Given the description of an element on the screen output the (x, y) to click on. 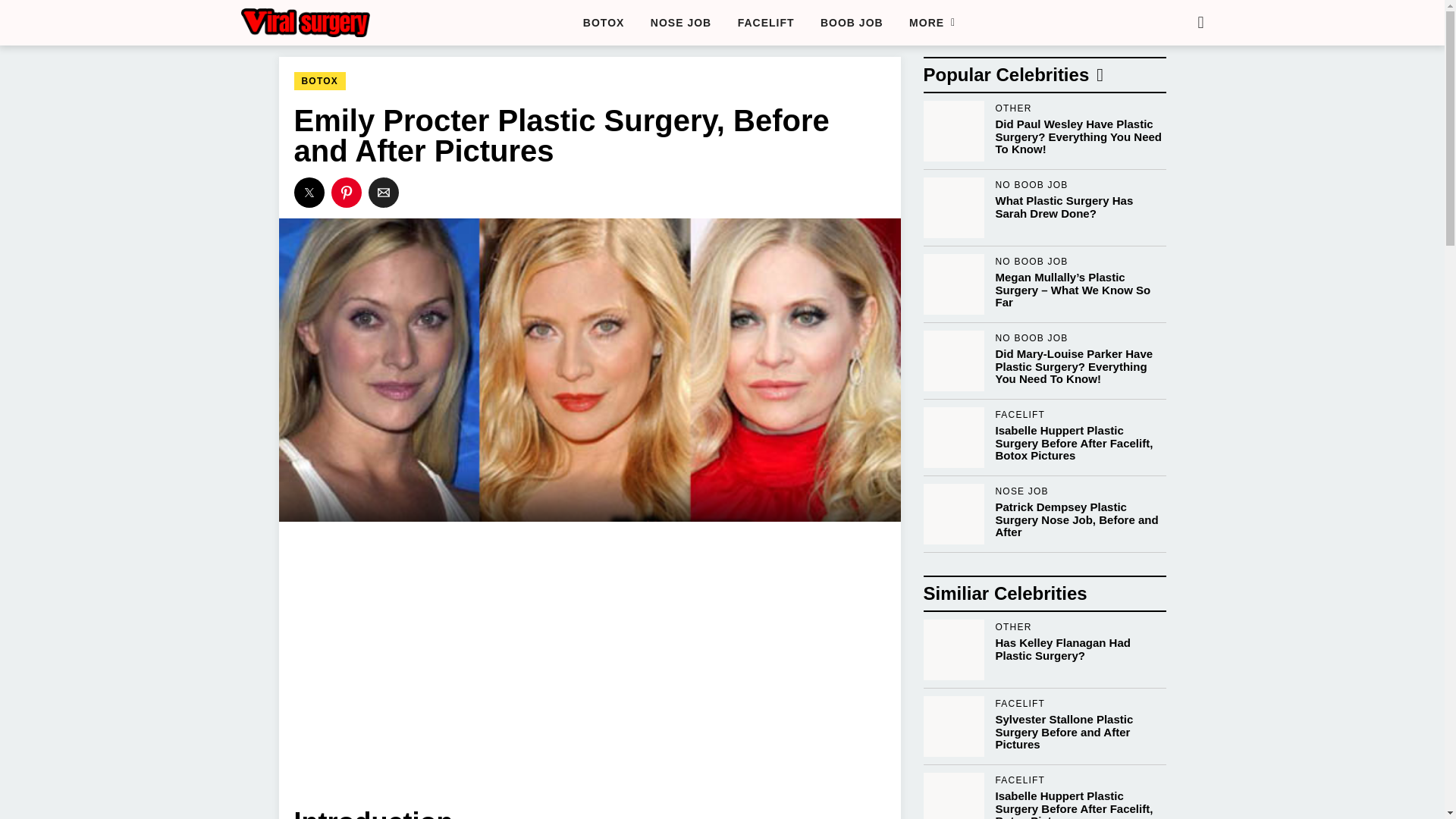
BOOB JOB (852, 22)
Share on Twitter (309, 192)
MORE (931, 22)
FACELIFT (1044, 649)
